Given the description of an element on the screen output the (x, y) to click on. 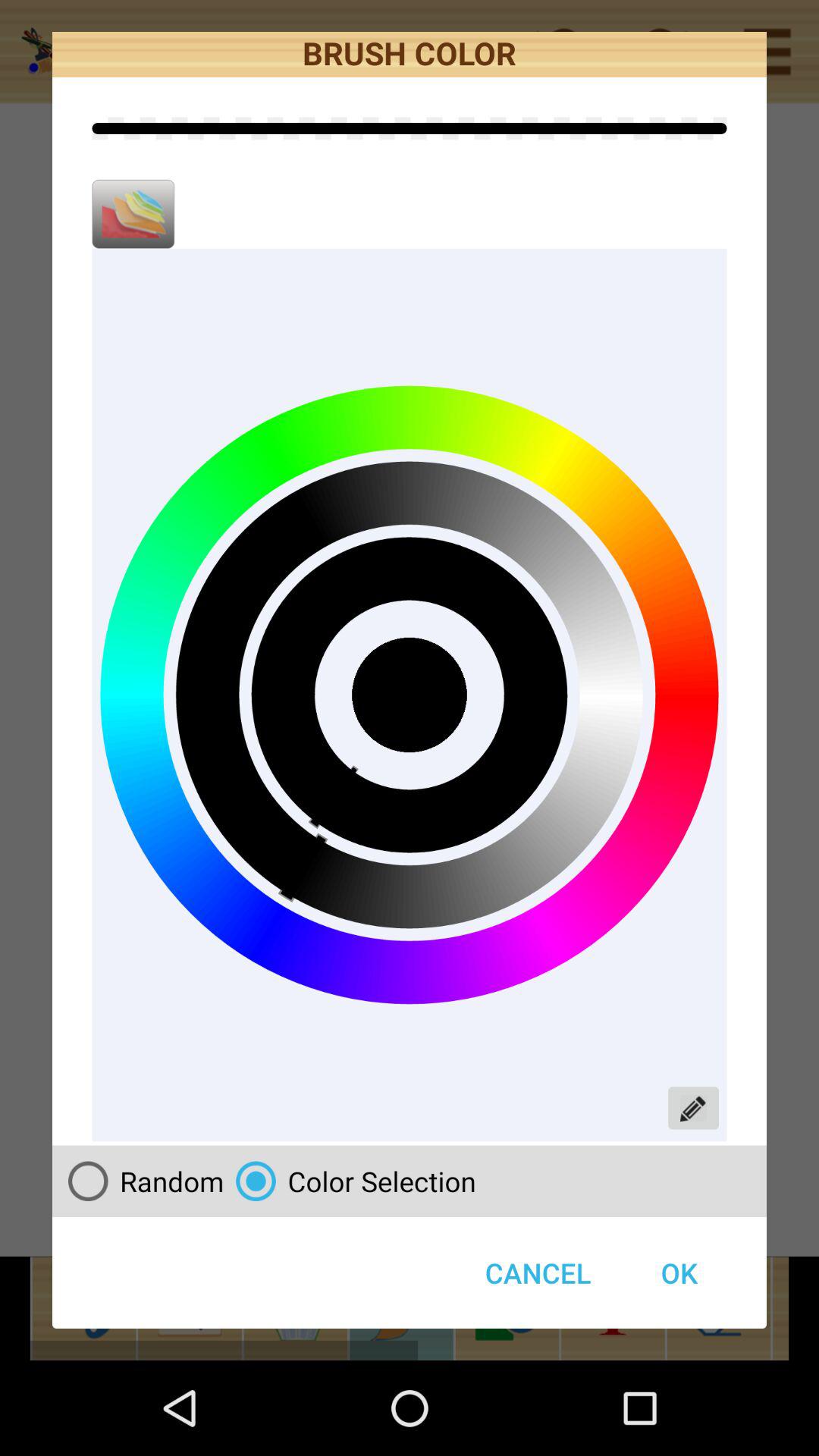
launch item next to the cancel item (678, 1272)
